Given the description of an element on the screen output the (x, y) to click on. 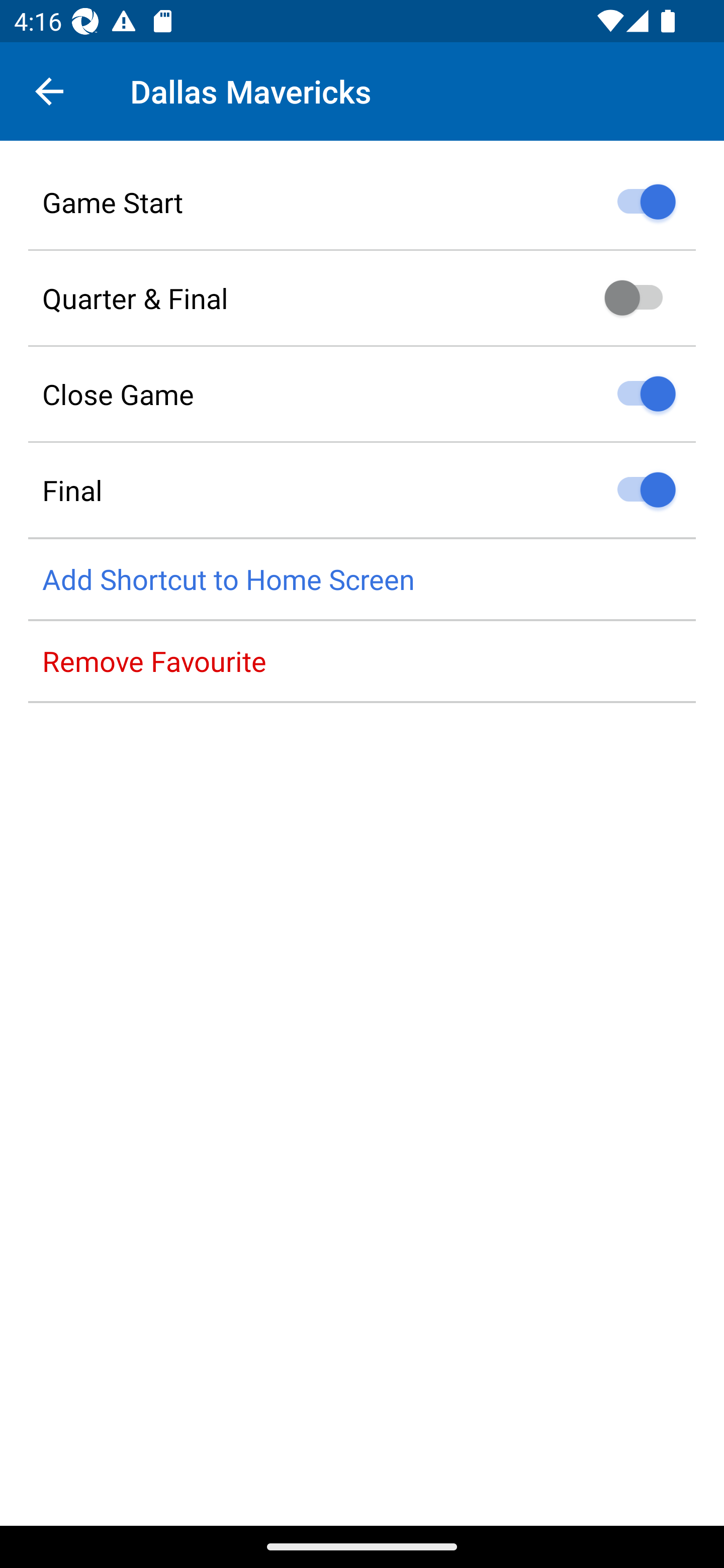
Navigate up (49, 91)
Add Shortcut to Home Screen (362, 579)
Remove Favourite (362, 661)
